Given the description of an element on the screen output the (x, y) to click on. 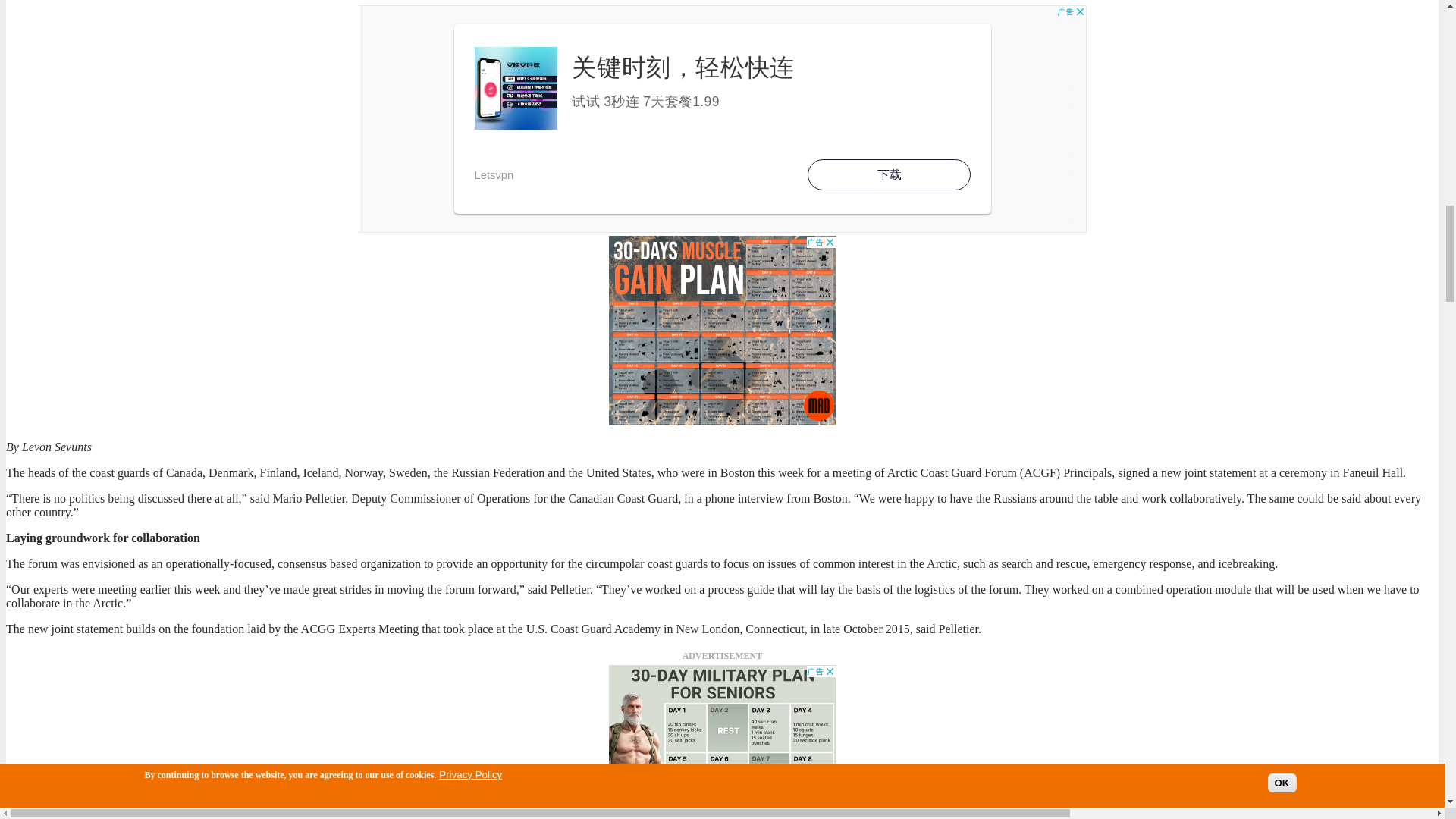
Advertisement (721, 742)
Advertisement (721, 330)
